Given the description of an element on the screen output the (x, y) to click on. 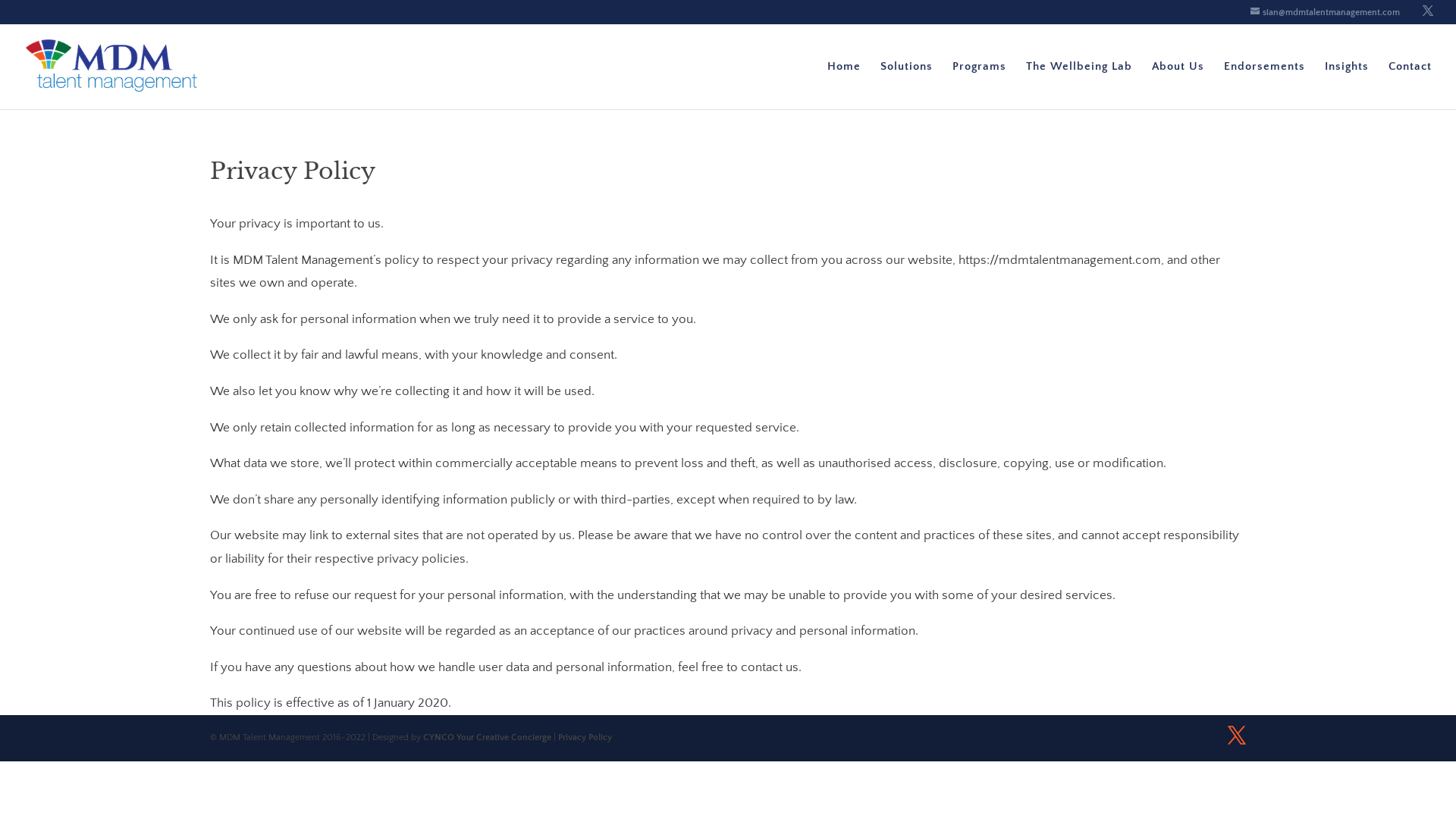
Privacy Policy Element type: text (584, 737)
Endorsements Element type: text (1264, 85)
Home Element type: text (843, 85)
sian@mdmtalentmanagement.com Element type: text (1324, 12)
CYNCO Your Creative Concierge Element type: text (487, 737)
Programs Element type: text (979, 85)
Solutions Element type: text (906, 85)
About Us Element type: text (1177, 85)
Insights Element type: text (1346, 85)
Contact Element type: text (1409, 85)
The Wellbeing Lab Element type: text (1079, 85)
